Given the description of an element on the screen output the (x, y) to click on. 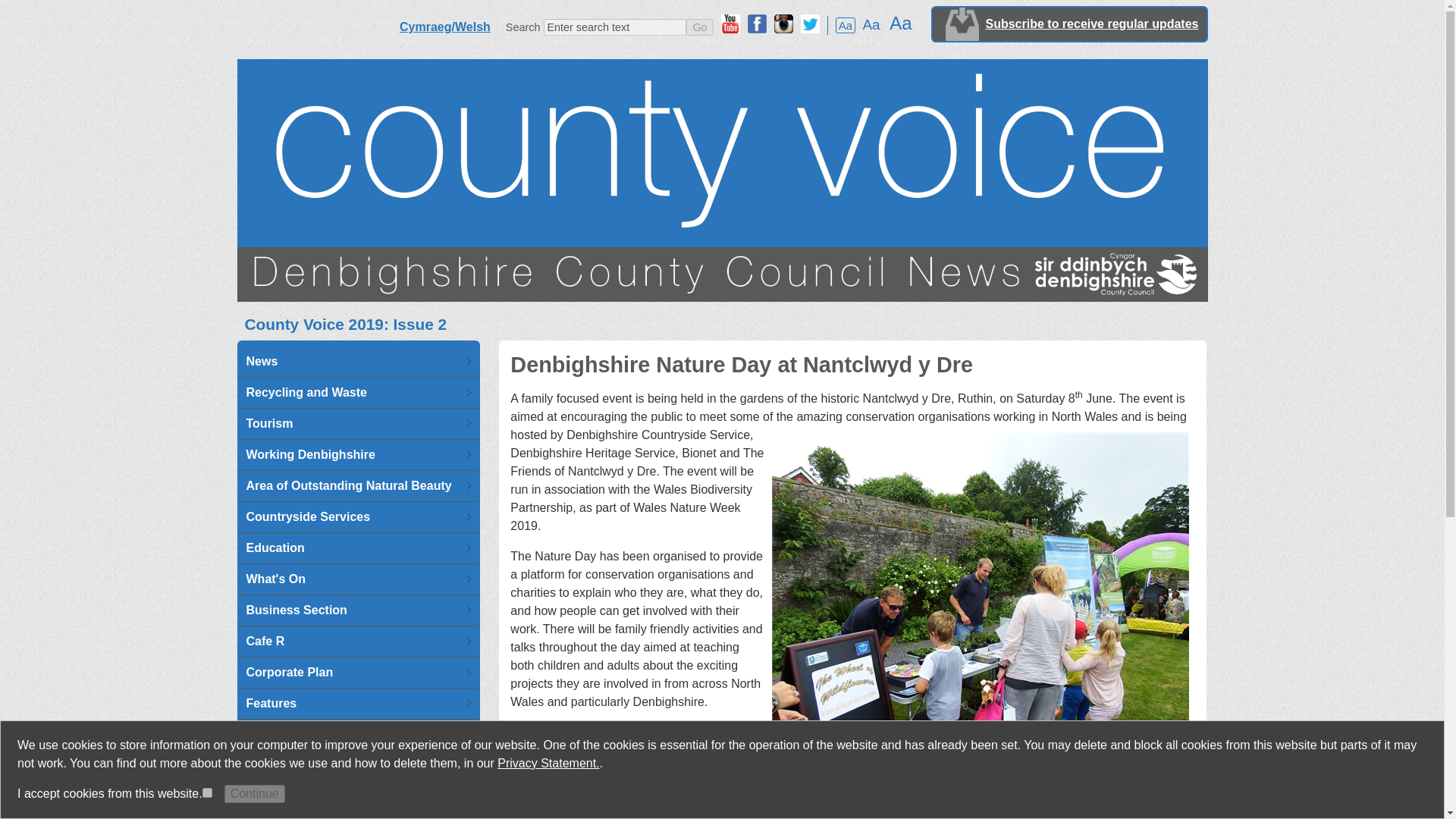
Go (699, 27)
Recycling and Waste (354, 392)
Business Section (354, 610)
Enter search text (614, 27)
Make the text size medium (871, 24)
Working Denbighshire (354, 454)
Cafe R (354, 641)
view us on YouTube (729, 23)
Denbighshire Leisure Ltd (354, 766)
Continue (254, 793)
Follow us on Instagram (783, 23)
What's On (354, 579)
Tourism (354, 423)
Tourism Update (354, 423)
